Given the description of an element on the screen output the (x, y) to click on. 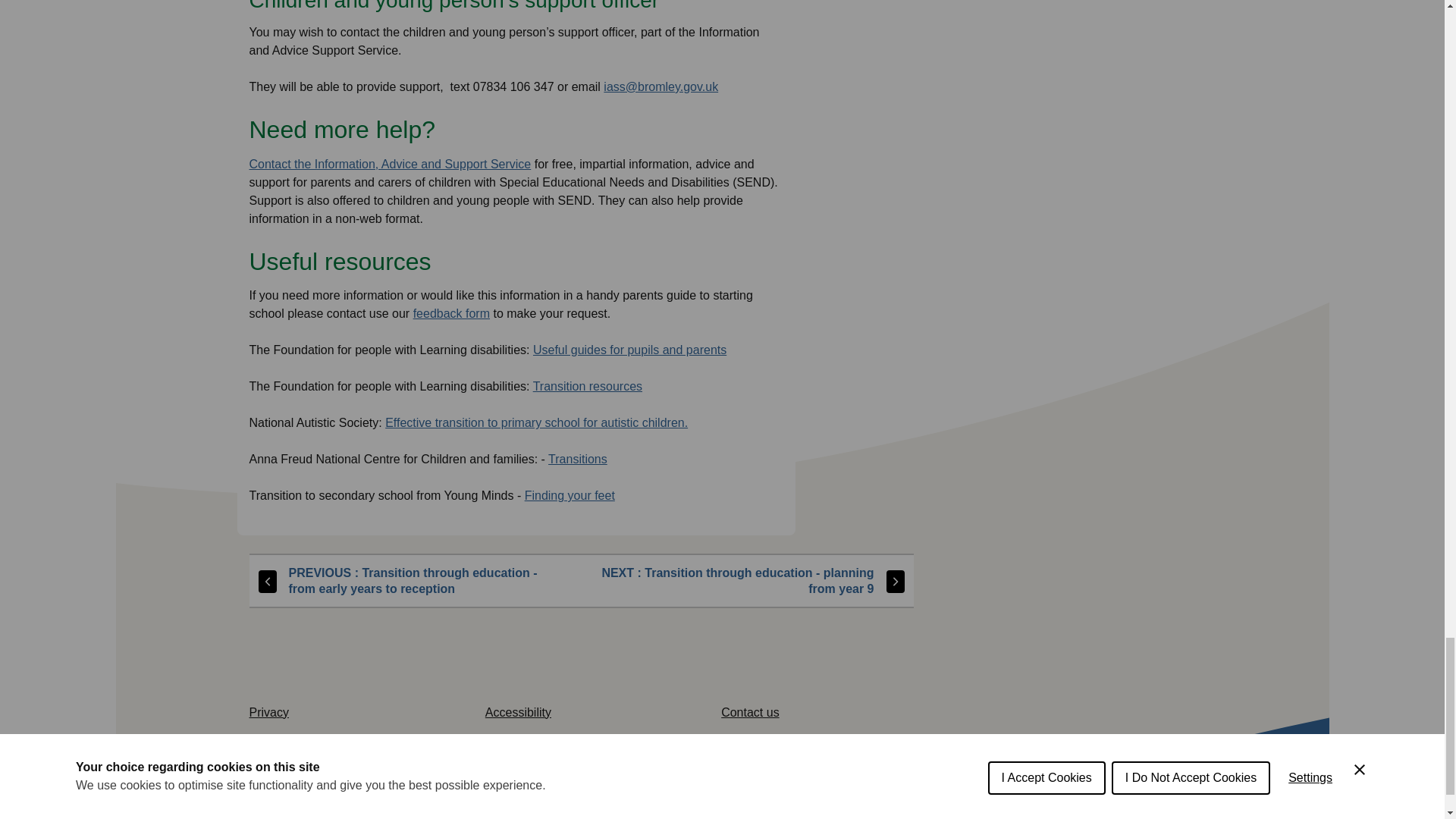
Visit the Jadu website (406, 804)
Instagram (1116, 816)
Facebook (1011, 816)
Youtube (1063, 816)
Twitter (959, 816)
Linkedin (1168, 816)
